Given the description of an element on the screen output the (x, y) to click on. 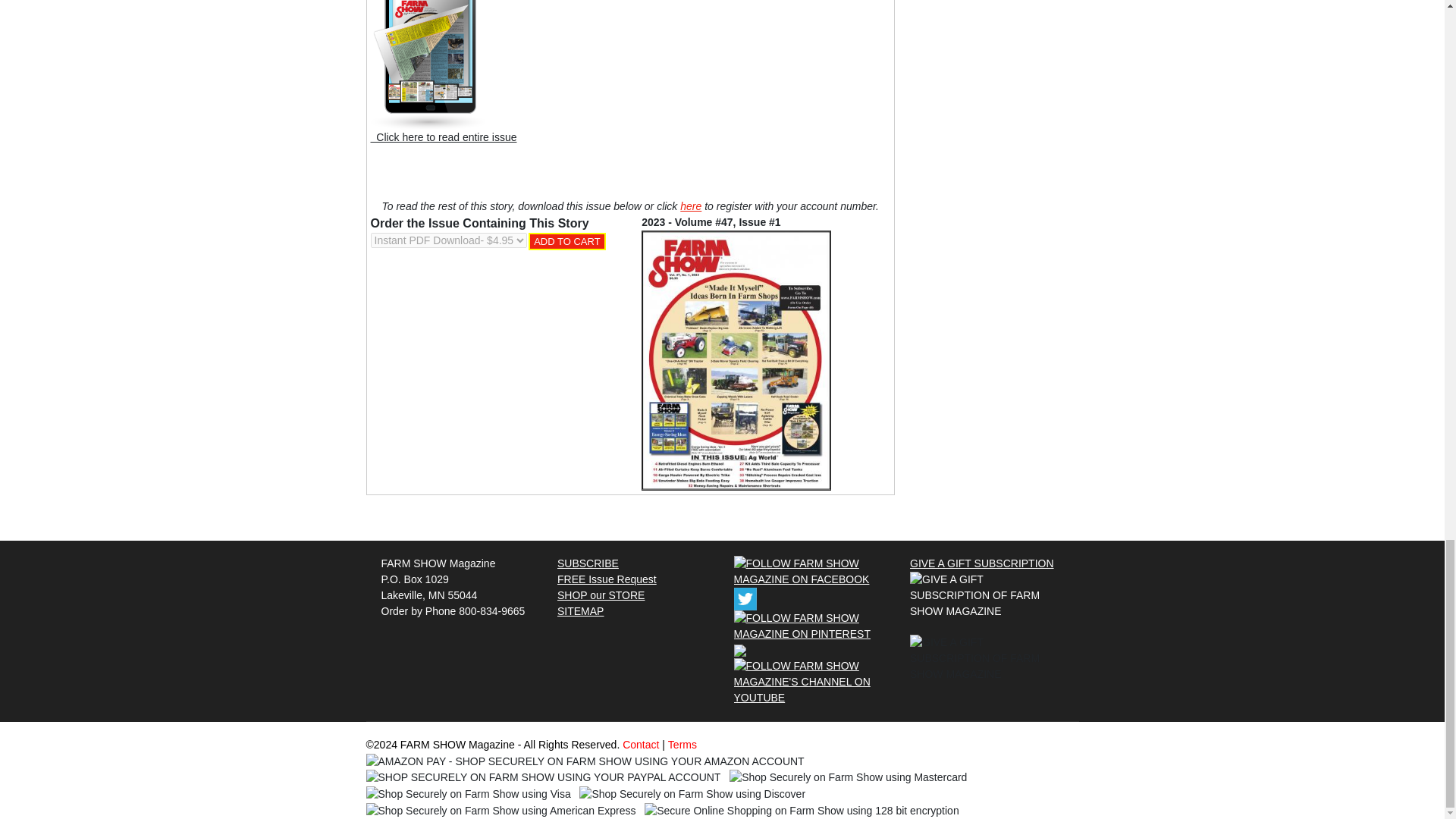
Add To Cart (566, 241)
